Given the description of an element on the screen output the (x, y) to click on. 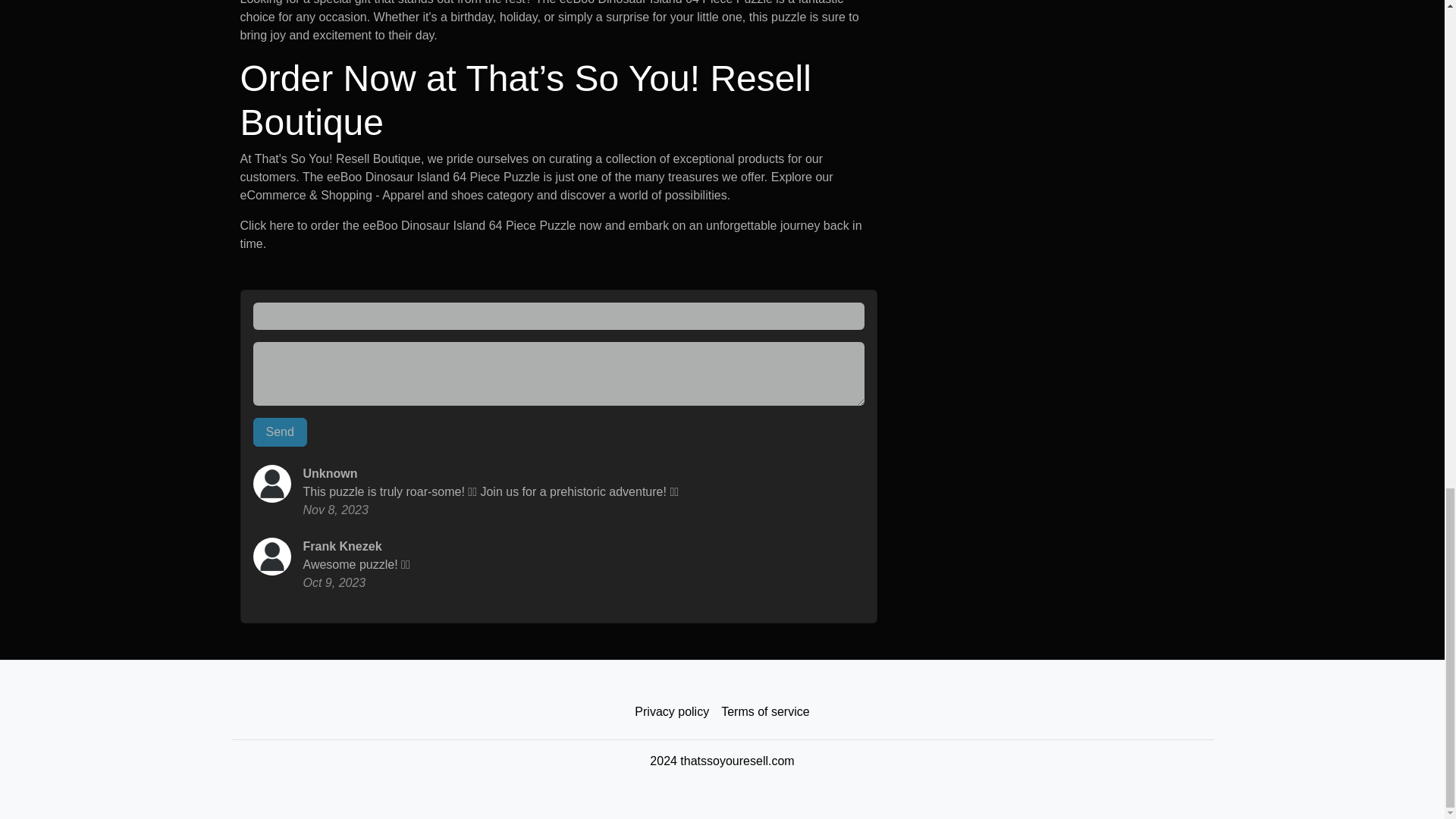
Terms of service (764, 711)
Privacy policy (671, 711)
Send (280, 431)
Send (280, 431)
